Given the description of an element on the screen output the (x, y) to click on. 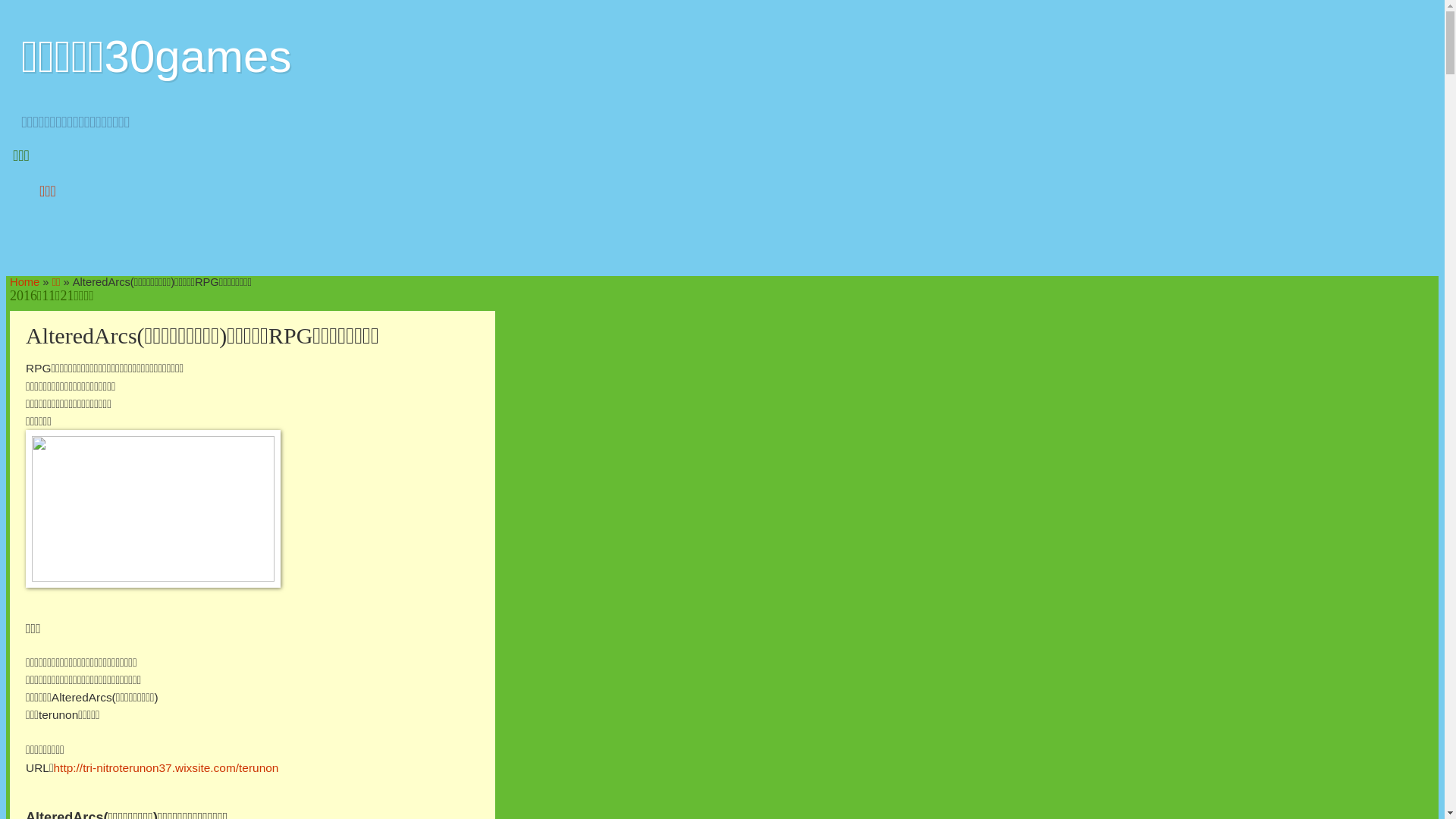
Home Element type: text (24, 282)
http://tri-nitroterunon37.wixsite.com/terunon Element type: text (166, 767)
